Given the description of an element on the screen output the (x, y) to click on. 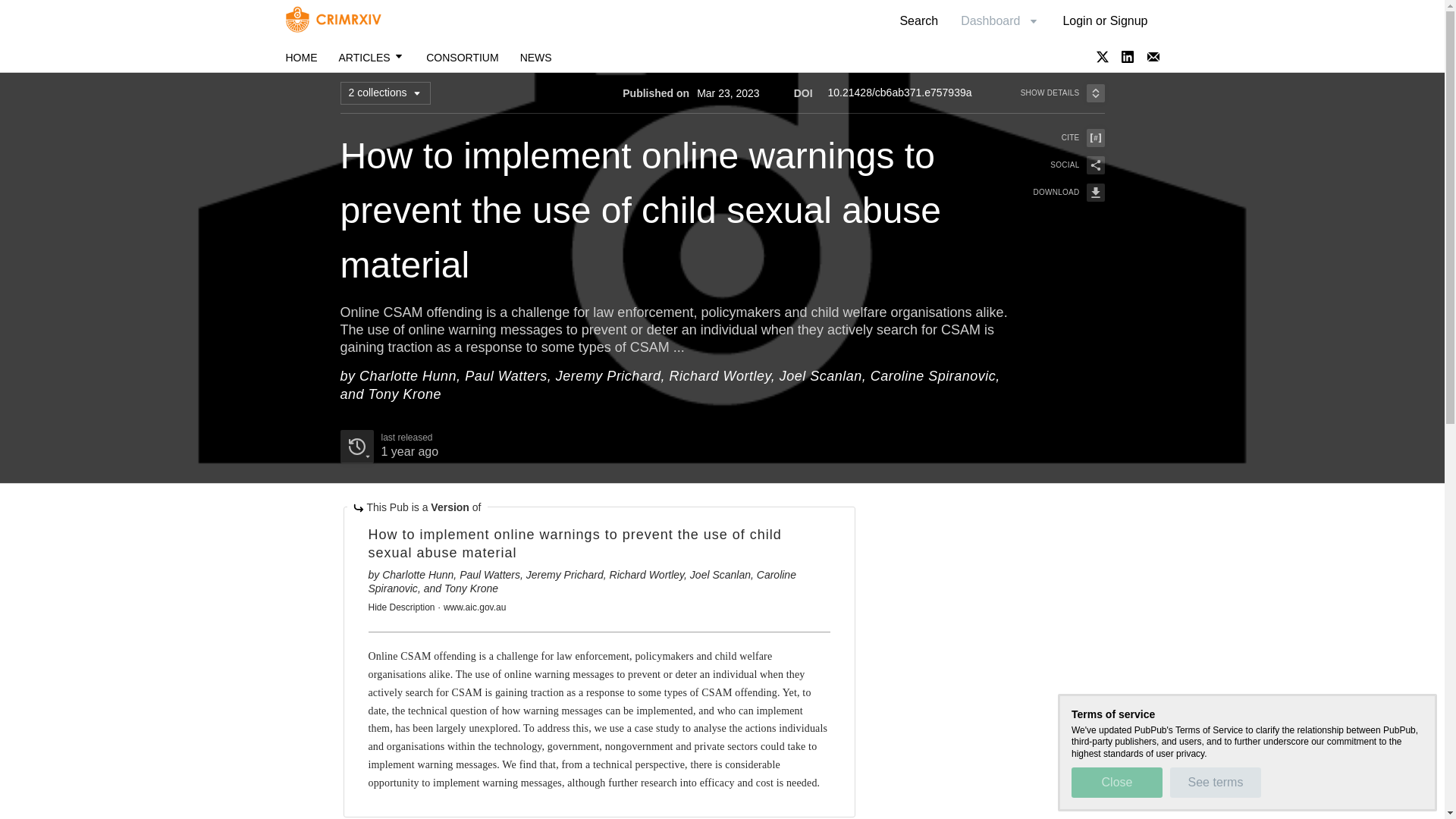
Dashboard (1000, 20)
2 collections (384, 92)
Login or Signup (1104, 20)
HOME (388, 446)
2023-08-23 18:05 (301, 57)
DOWNLOAD (409, 451)
NEWS (1058, 192)
CONSORTIUM (535, 57)
See terms (461, 57)
